Given the description of an element on the screen output the (x, y) to click on. 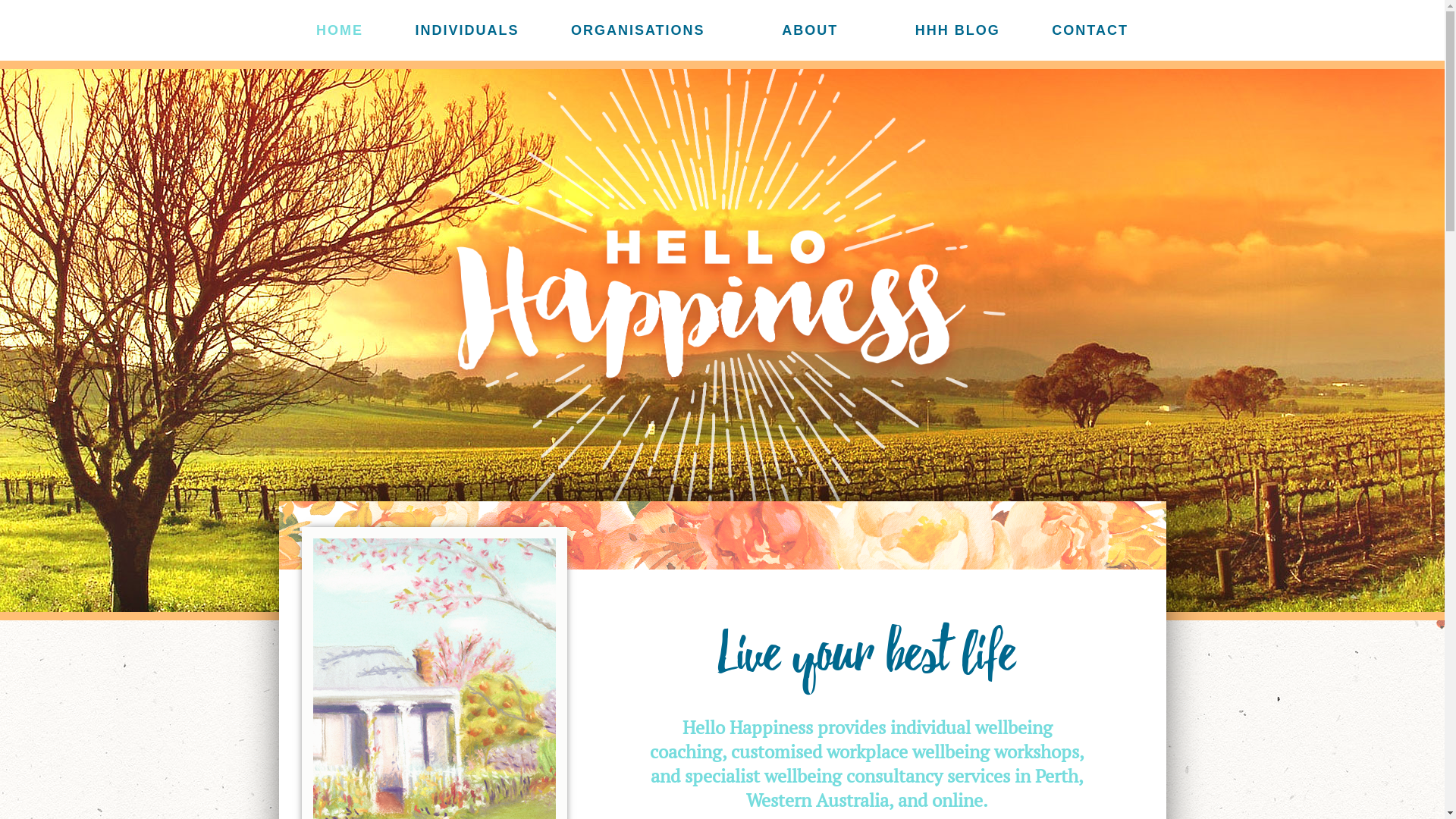
CONTACT Element type: text (1089, 30)
ABOUT Element type: text (809, 30)
ORGANISATIONS Element type: text (638, 30)
INDIVIDUALS Element type: text (466, 30)
HHH BLOG Element type: text (957, 30)
HOME Element type: text (339, 30)
